Given the description of an element on the screen output the (x, y) to click on. 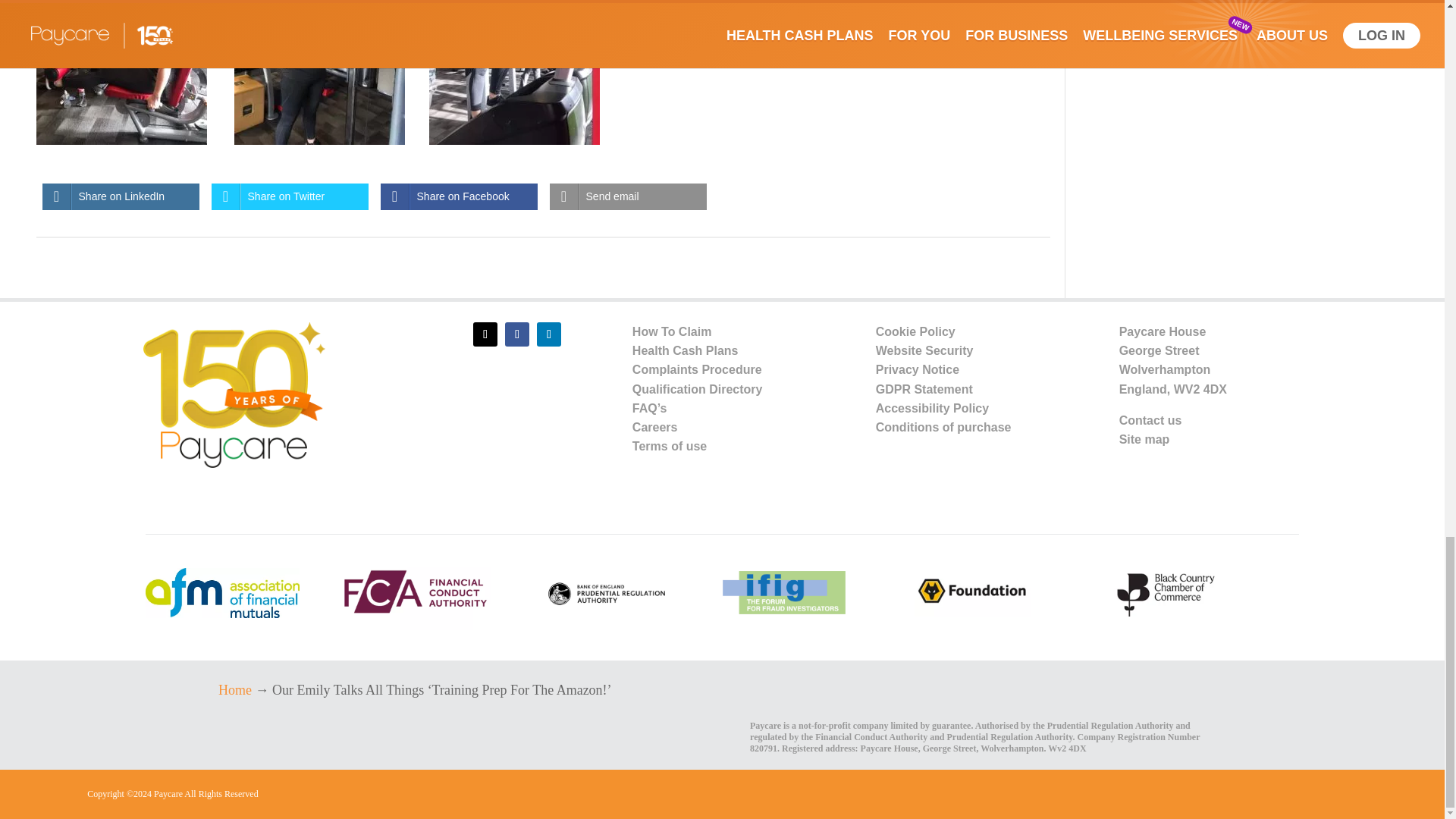
IFIG The Forum for Fraud Investigators (783, 592)
Follow on LinkedIn (548, 334)
Share it on Email (628, 196)
Follow on Facebook (517, 334)
Share on LinkedIn (120, 196)
Follow on Twitter (485, 334)
Share on Twitter (289, 196)
Share on Facebook (458, 196)
Paycare-150 (233, 394)
